Given the description of an element on the screen output the (x, y) to click on. 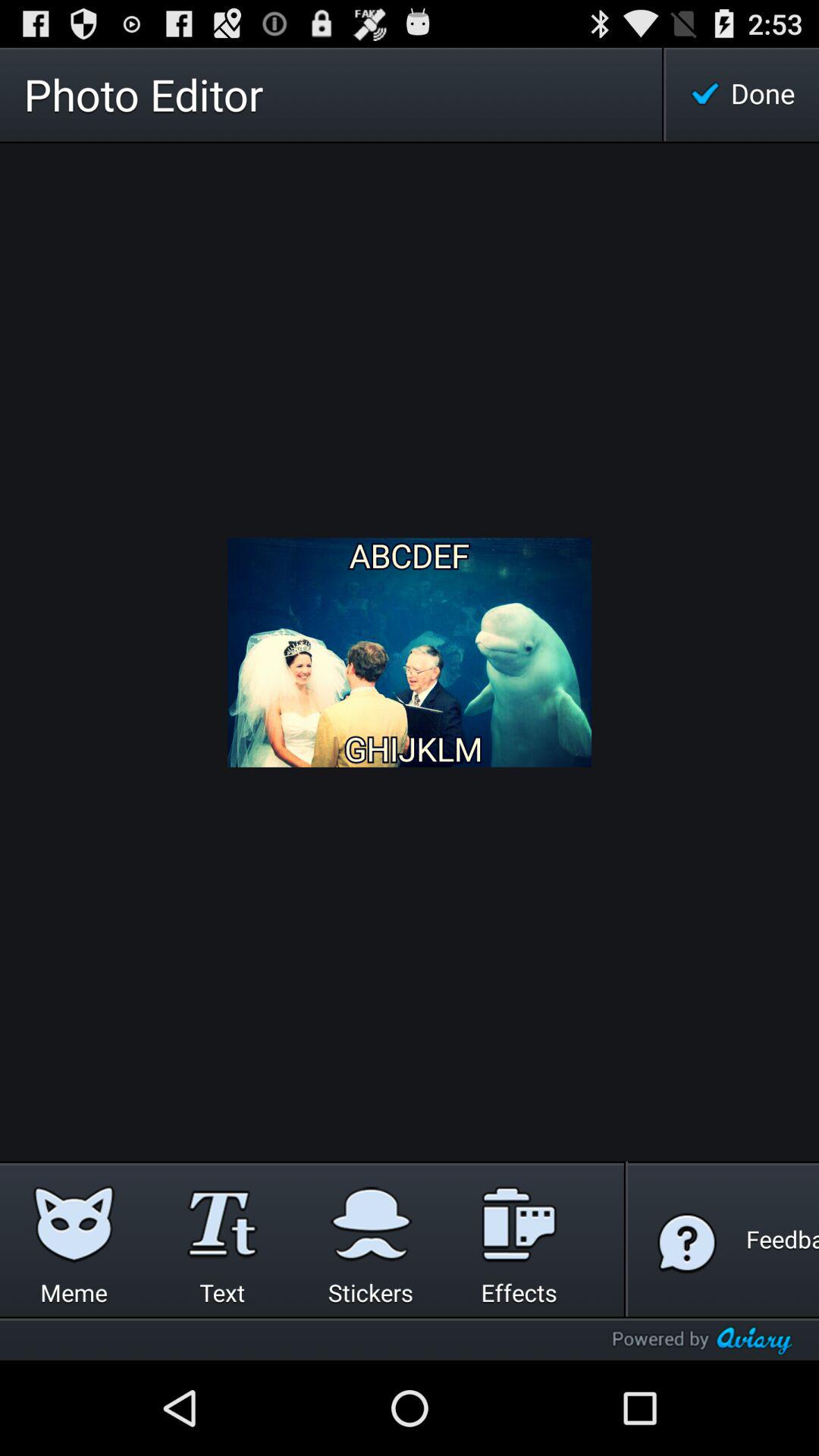
swipe until done icon (742, 93)
